Given the description of an element on the screen output the (x, y) to click on. 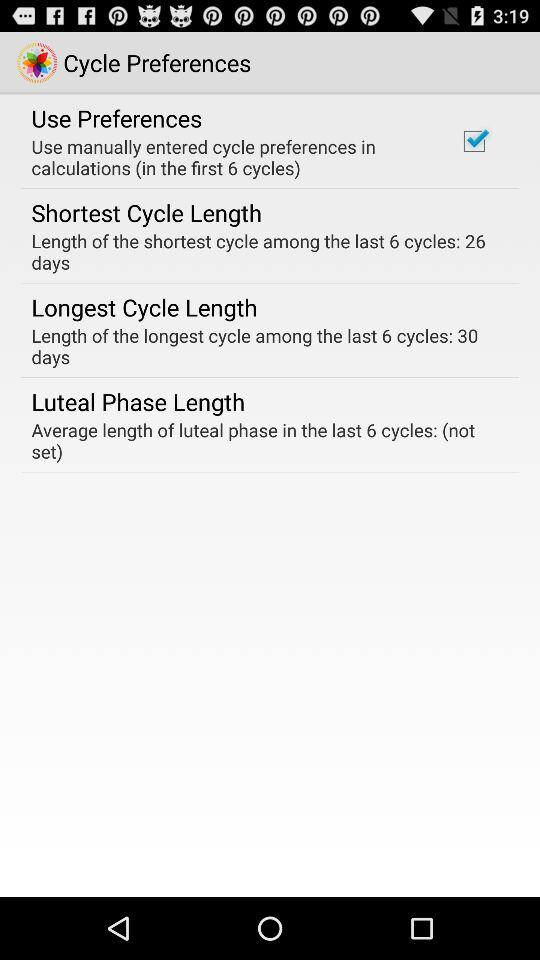
click the icon at the top right corner (474, 141)
